Given the description of an element on the screen output the (x, y) to click on. 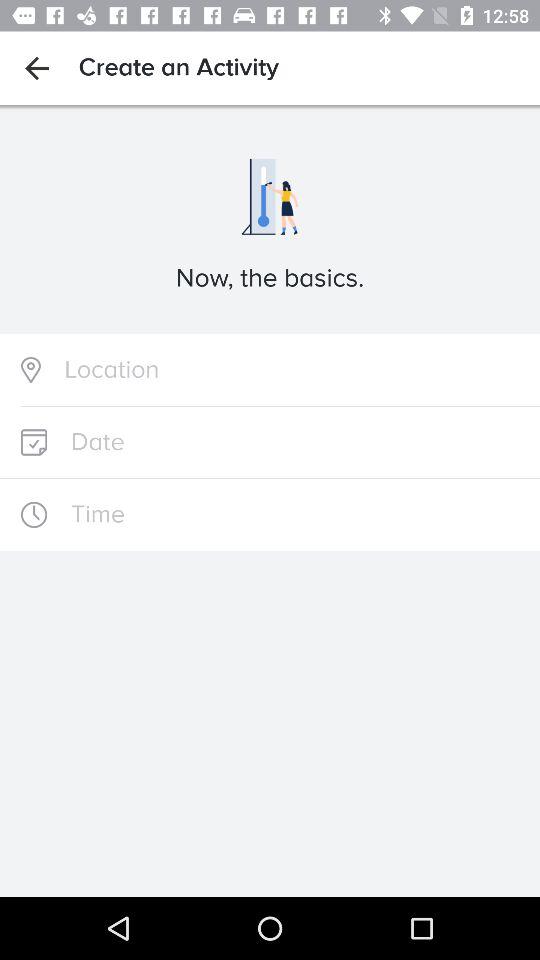
input field for time (270, 514)
